Given the description of an element on the screen output the (x, y) to click on. 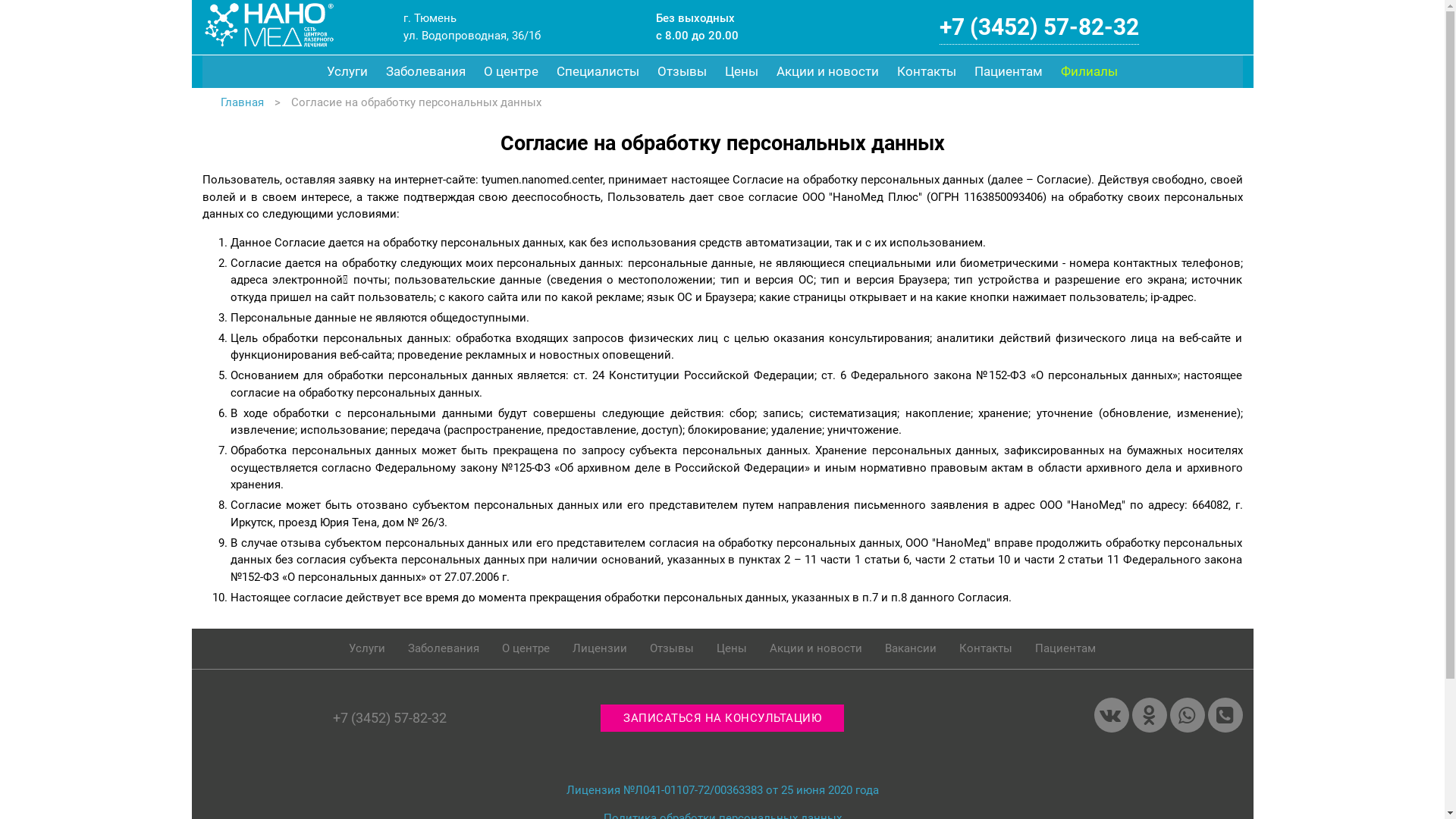
+7 (3452) 57-82-32 Element type: text (1039, 26)
+7 (3452) 57-82-32 Element type: text (389, 717)
